Given the description of an element on the screen output the (x, y) to click on. 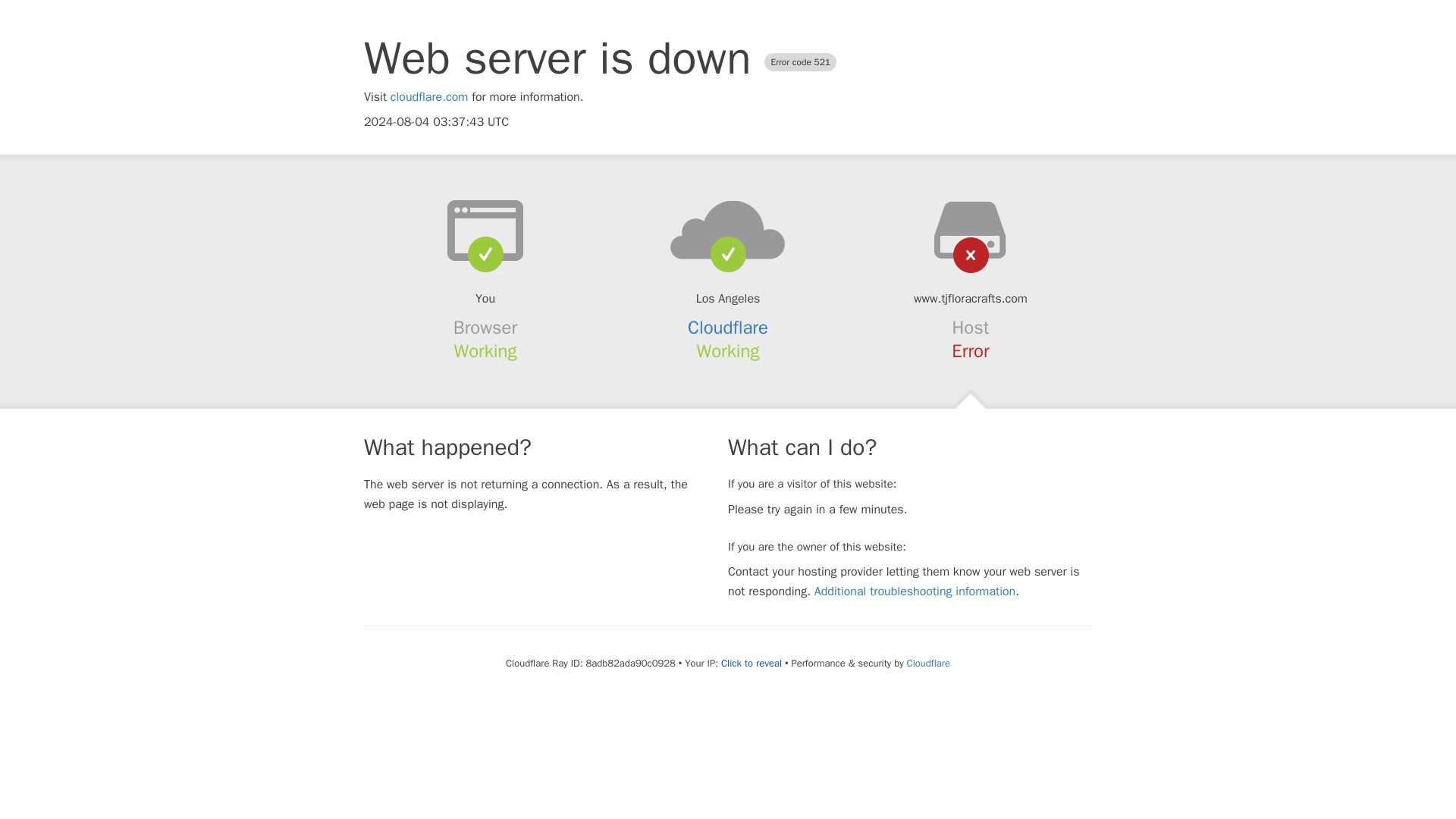
Additional troubleshooting information (913, 590)
Cloudflare (928, 662)
Cloudflare (727, 327)
Click to reveal (750, 663)
cloudflare.com (429, 96)
